Given the description of an element on the screen output the (x, y) to click on. 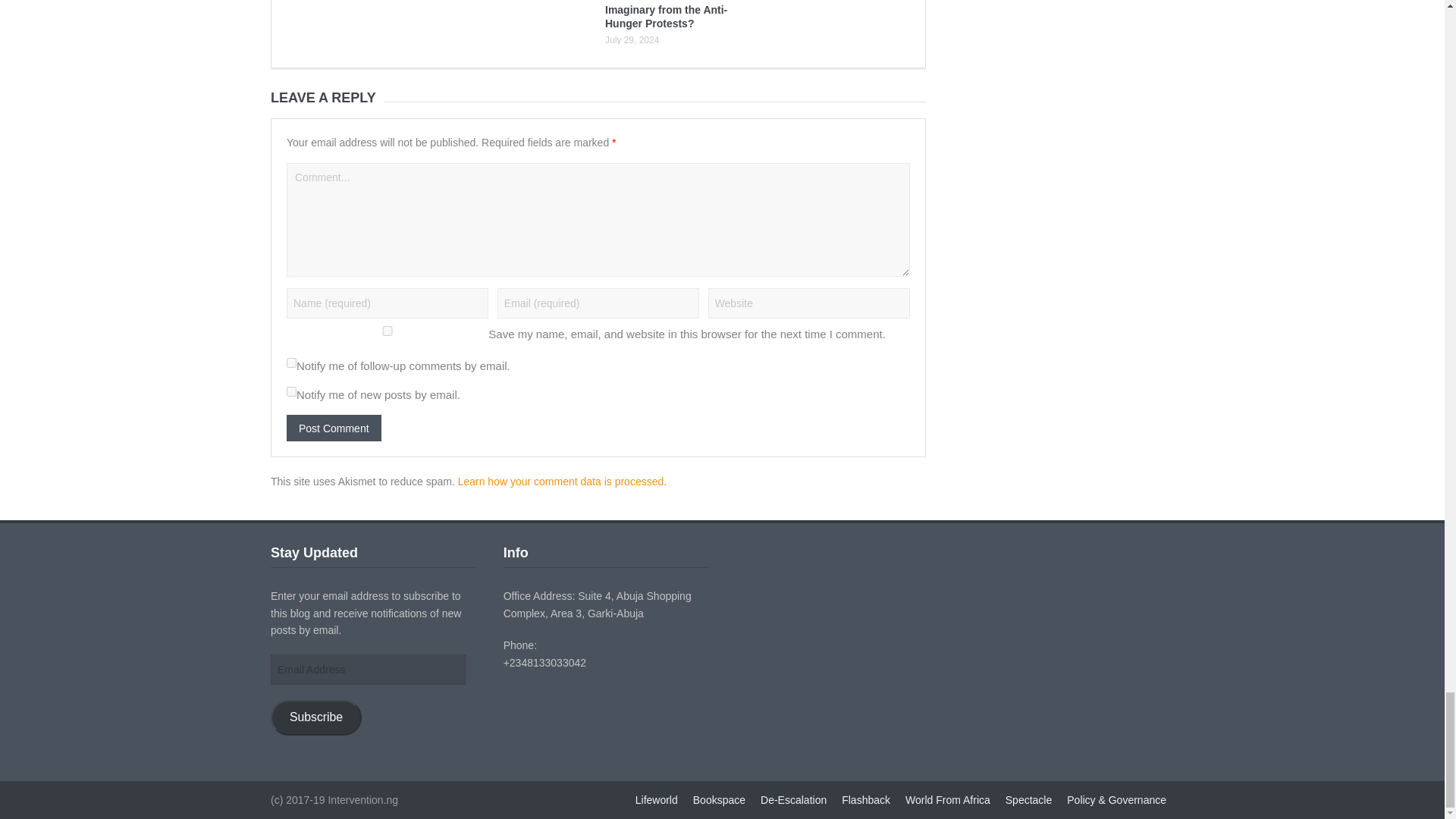
subscribe (291, 362)
yes (386, 330)
subscribe (291, 391)
Post Comment (333, 427)
